Given the description of an element on the screen output the (x, y) to click on. 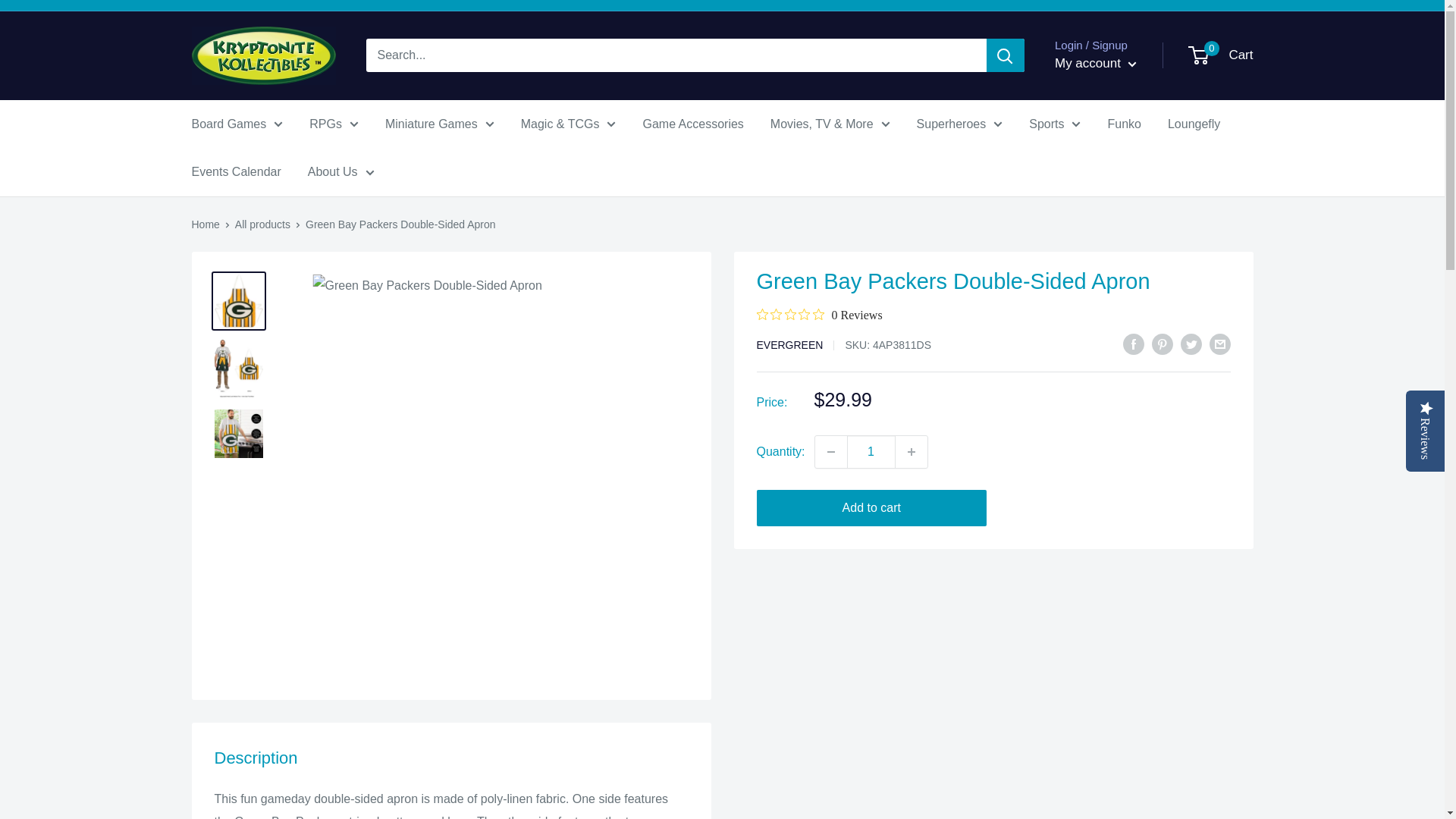
1 (871, 451)
0 Reviews (819, 315)
Decrease quantity by 1 (831, 451)
Increase quantity by 1 (911, 451)
